Given the description of an element on the screen output the (x, y) to click on. 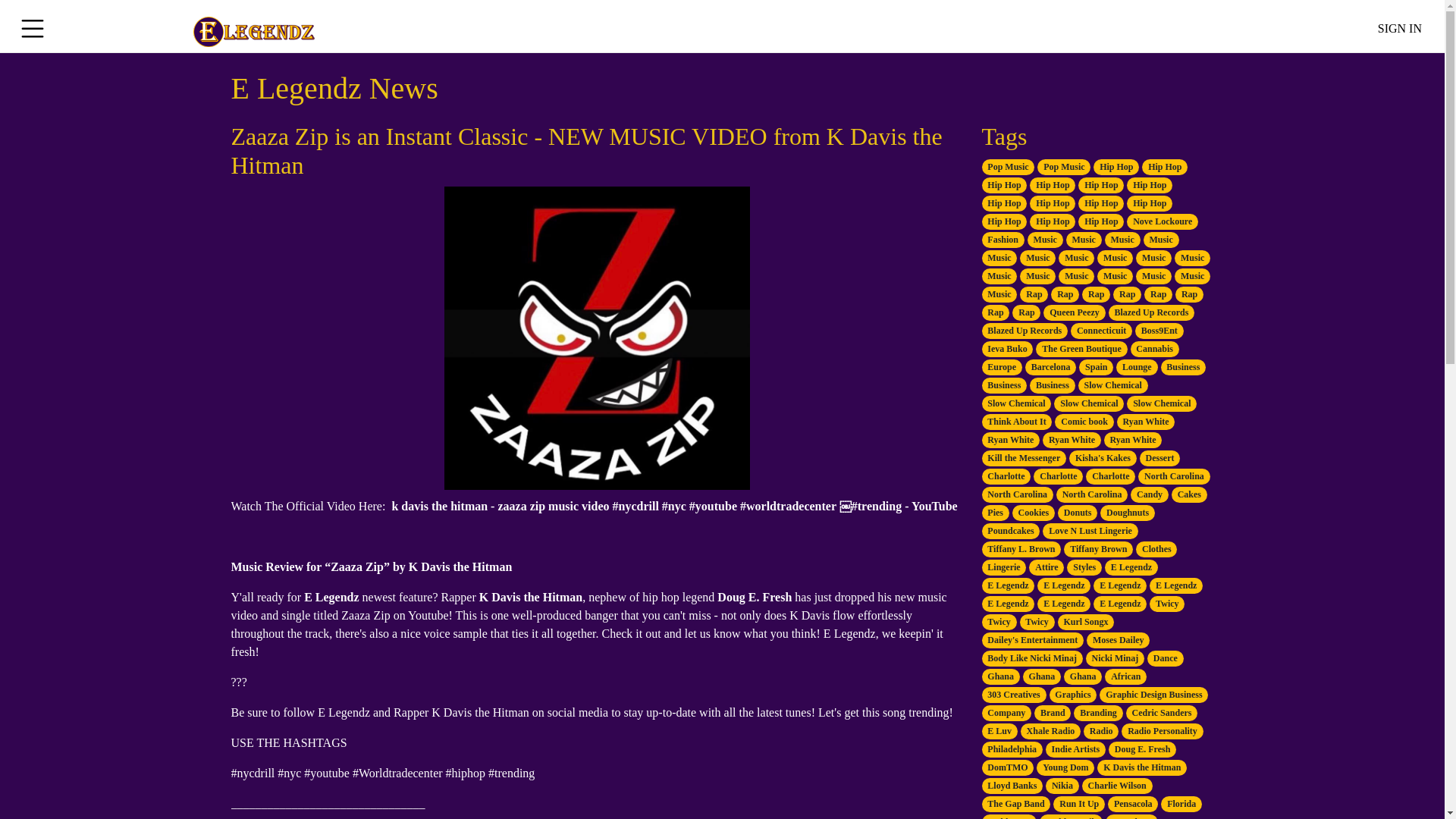
Hip Hop (1164, 164)
upload (1394, 22)
Pop Music (1063, 164)
Hip Hop (1115, 164)
Hip Hop (1003, 183)
Pop Music (1007, 164)
SIGN IN (1394, 28)
logo (253, 25)
